Given the description of an element on the screen output the (x, y) to click on. 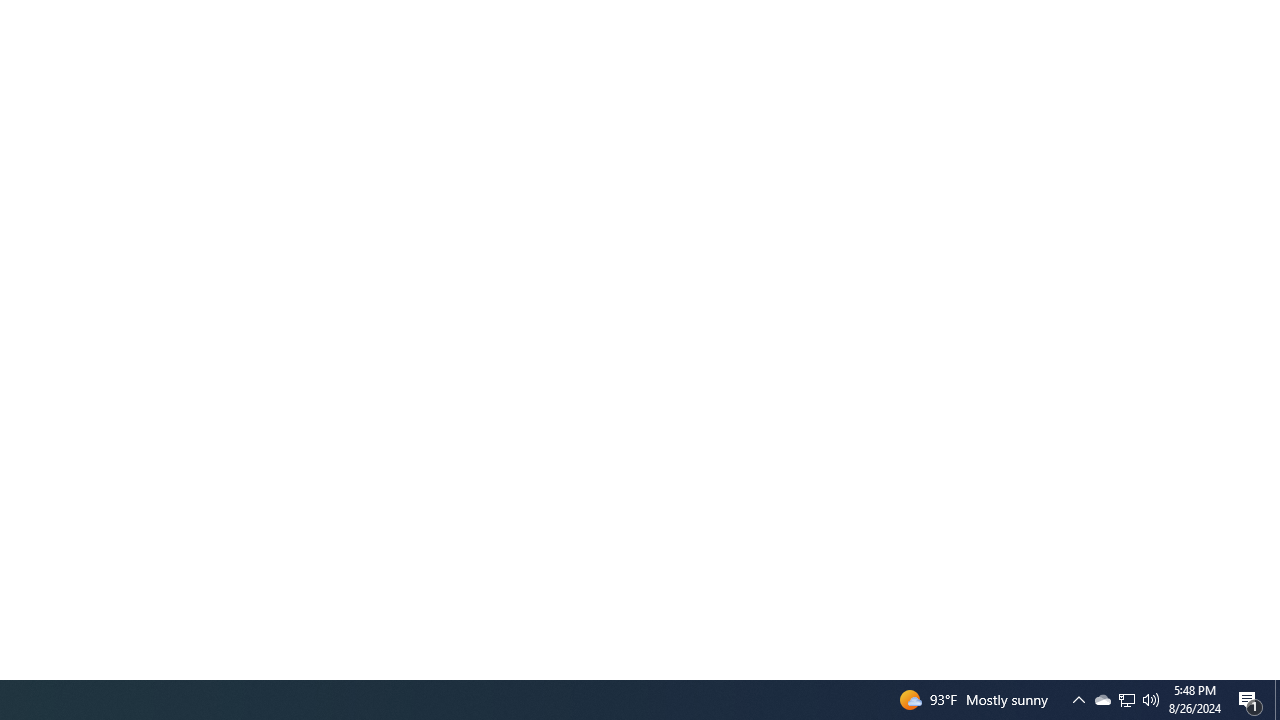
Q2790: 100% (1126, 699)
User Promoted Notification Area (1151, 699)
Notification Chevron (1102, 699)
Action Center, 1 new notification (1126, 699)
Show desktop (1078, 699)
